Given the description of an element on the screen output the (x, y) to click on. 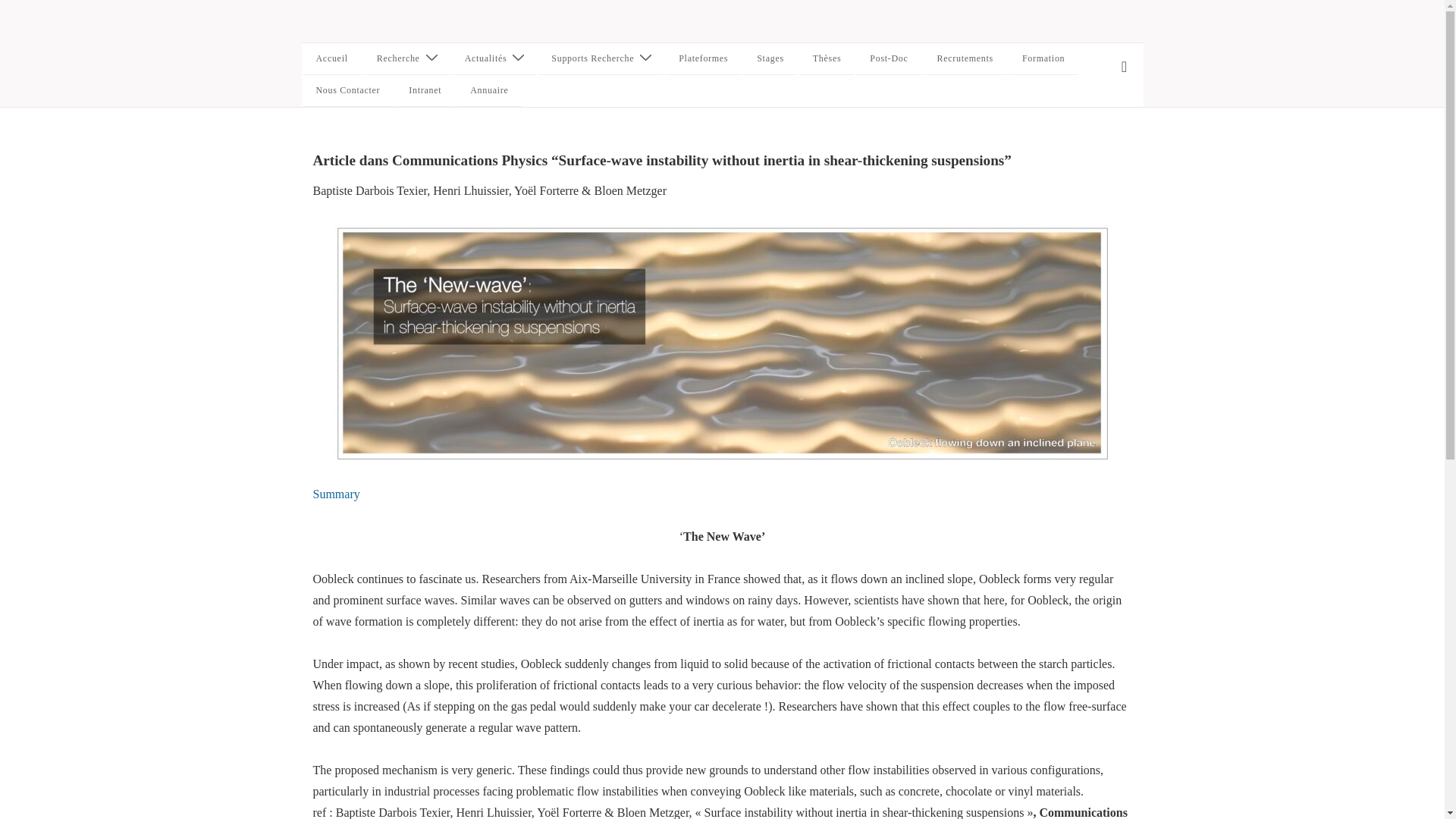
Recrutements (965, 58)
Annuaire (489, 90)
Recherche (405, 58)
Plateformes (703, 58)
Summary (336, 493)
Stages (769, 58)
Accueil (331, 58)
Intranet (424, 90)
Formation (1043, 58)
Post-Doc (888, 58)
Supports Recherche (600, 58)
Nous Contacter (347, 90)
MENU (1123, 66)
